Given the description of an element on the screen output the (x, y) to click on. 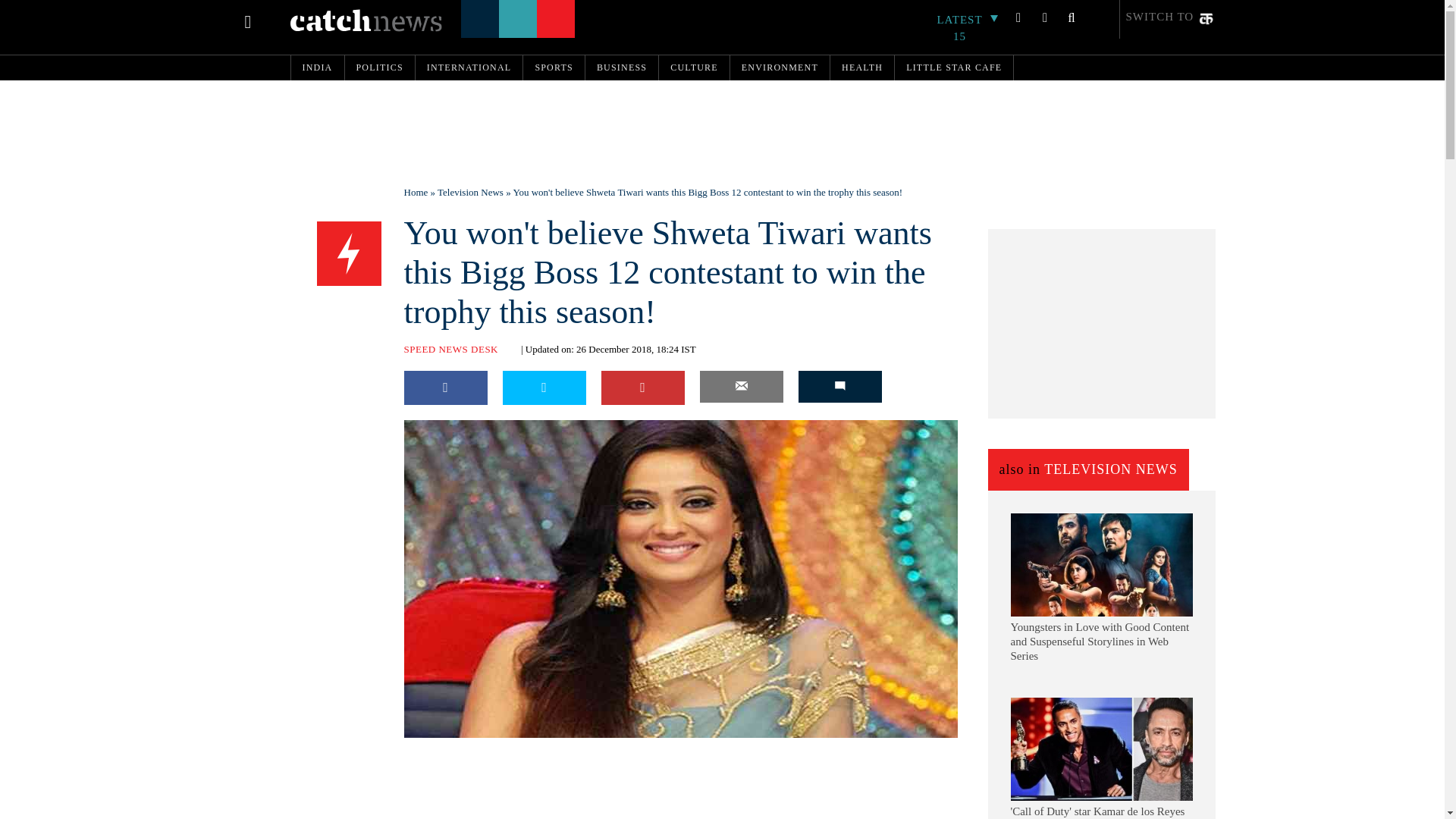
Catch News (365, 20)
Twitter Follow Button (501, 748)
fb:like Facebook Social Plugin (422, 748)
3rd party ad content (721, 125)
SPEED NEWS (349, 253)
LATEST 15 (968, 28)
